Given the description of an element on the screen output the (x, y) to click on. 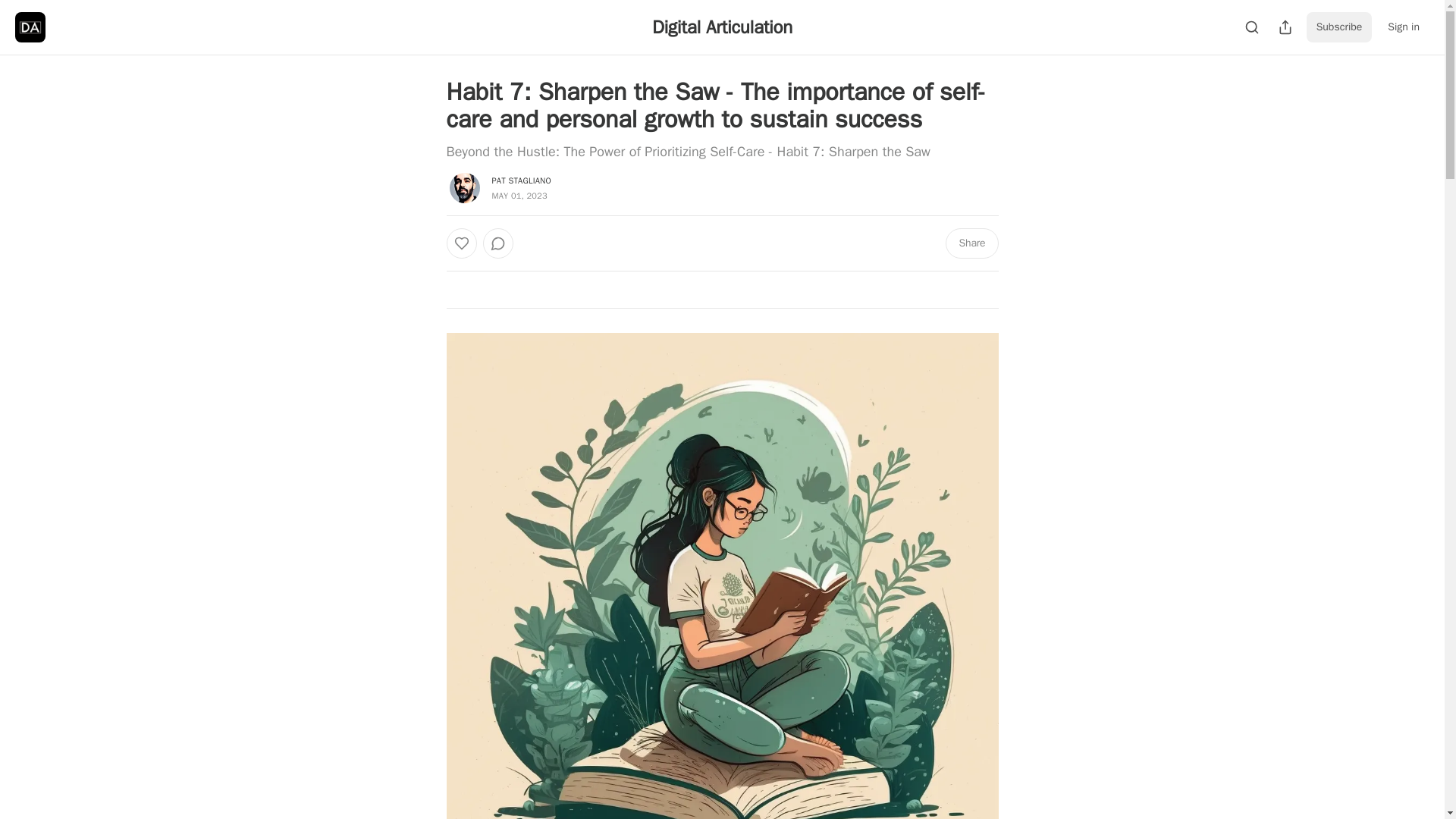
Share (970, 243)
Subscribe (1339, 27)
Sign in (1403, 27)
Digital Articulation (722, 26)
PAT STAGLIANO (521, 180)
